Given the description of an element on the screen output the (x, y) to click on. 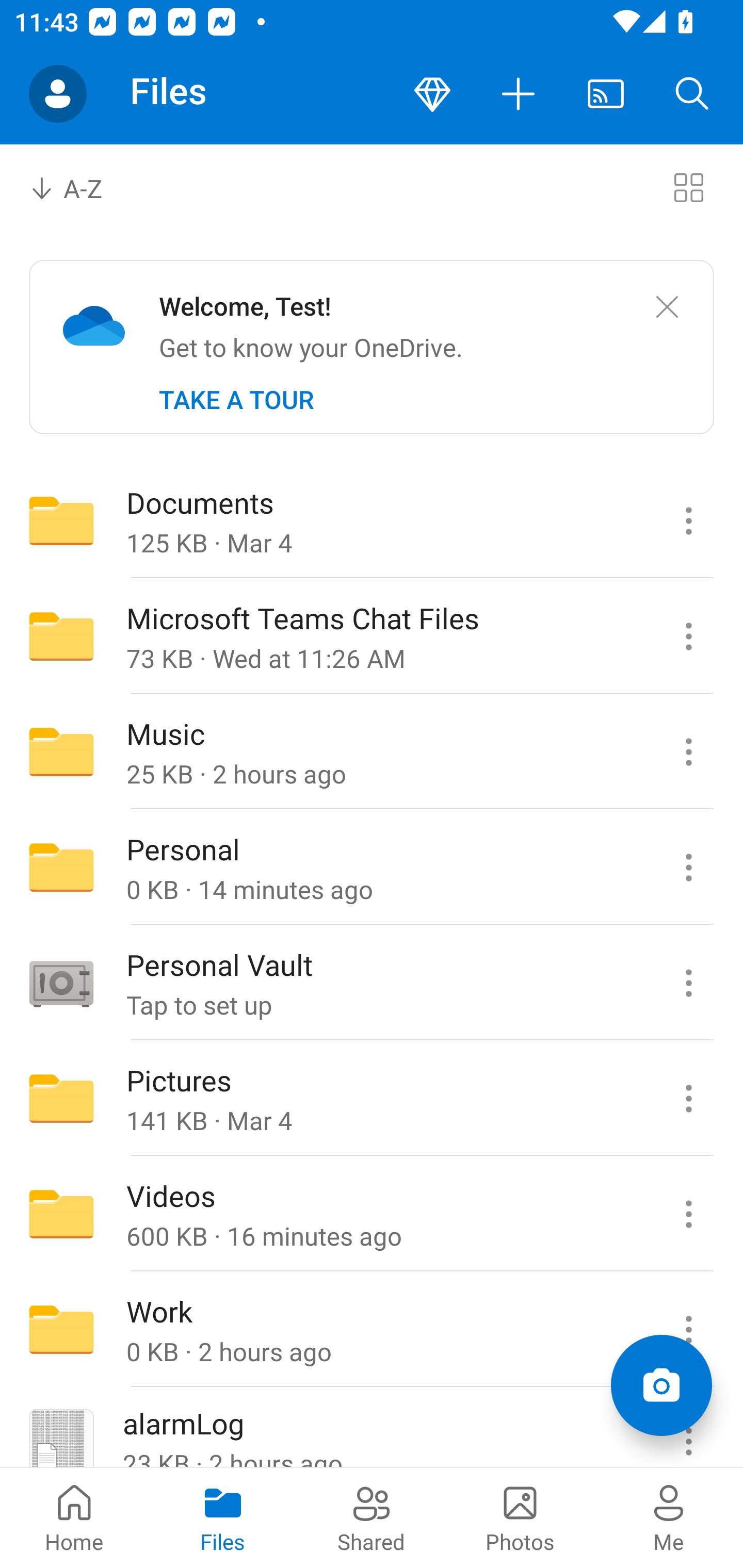
Account switcher (57, 93)
Cast. Disconnected (605, 93)
Premium button (432, 93)
More actions button (518, 93)
Search button (692, 93)
A-Z Sort by combo box, sort by name, A to Z (80, 187)
Switch to tiles view (688, 187)
Close (667, 307)
TAKE A TOUR (236, 399)
Folder Documents 125 KB · Mar 4 Documents commands (371, 520)
Documents commands (688, 520)
Microsoft Teams Chat Files commands (688, 636)
Folder Music 25 KB · 2 hours ago Music commands (371, 751)
Music commands (688, 751)
Personal commands (688, 867)
Personal Vault commands (688, 983)
Folder Pictures 141 KB · Mar 4 Pictures commands (371, 1099)
Pictures commands (688, 1099)
Videos commands (688, 1214)
Folder Work 0 KB · 2 hours ago Work commands (371, 1329)
Work commands (688, 1329)
Add items Scan (660, 1385)
alarmLog commands (688, 1427)
Home pivot Home (74, 1517)
Shared pivot Shared (371, 1517)
Photos pivot Photos (519, 1517)
Me pivot Me (668, 1517)
